Given the description of an element on the screen output the (x, y) to click on. 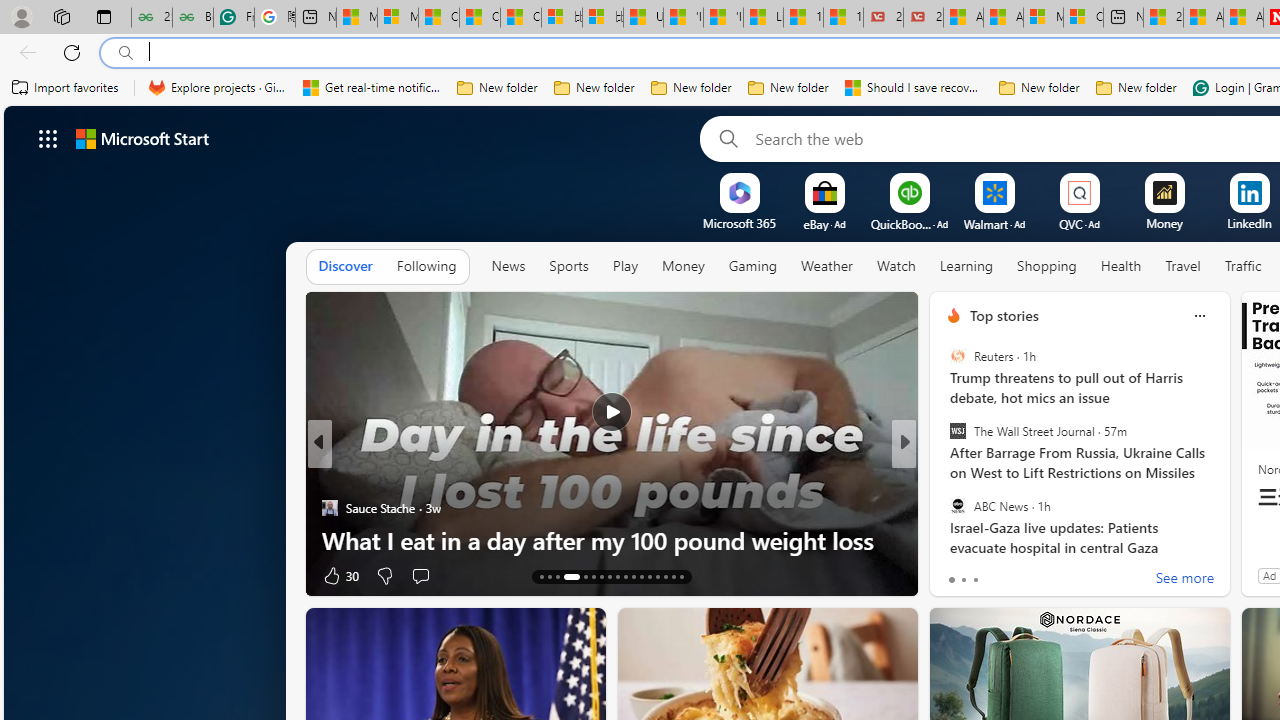
Travel (1183, 267)
600 Like (959, 574)
Nordace (959, 507)
Champagne Living (944, 475)
The Register (944, 507)
Traffic (1242, 267)
1k Like (955, 574)
Start the conversation (420, 574)
Class: icon-img (1199, 316)
View comments 25 Comment (1042, 575)
